Given the description of an element on the screen output the (x, y) to click on. 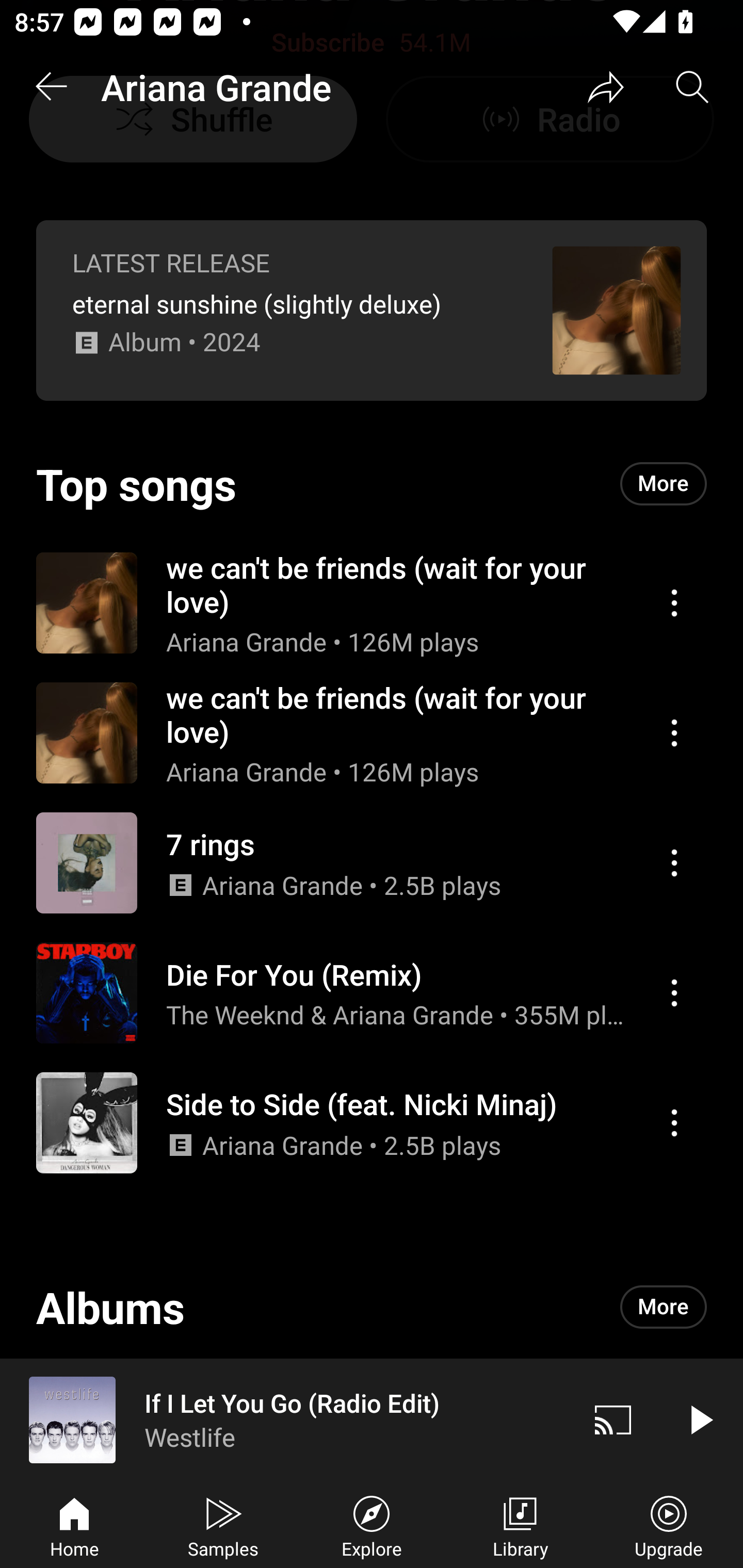
Back (50, 86)
Share (605, 86)
Search (692, 86)
Action menu (371, 602)
Action menu (673, 602)
Action menu (371, 732)
Action menu (673, 733)
Action menu (371, 863)
Action menu (673, 863)
Action menu (371, 993)
Action menu (673, 992)
Action menu (371, 1123)
Action menu (673, 1122)
If I Let You Go (Radio Edit) Westlife (284, 1419)
Cast. Disconnected (612, 1419)
Play video (699, 1419)
Home (74, 1524)
Samples (222, 1524)
Explore (371, 1524)
Library (519, 1524)
Upgrade (668, 1524)
